Given the description of an element on the screen output the (x, y) to click on. 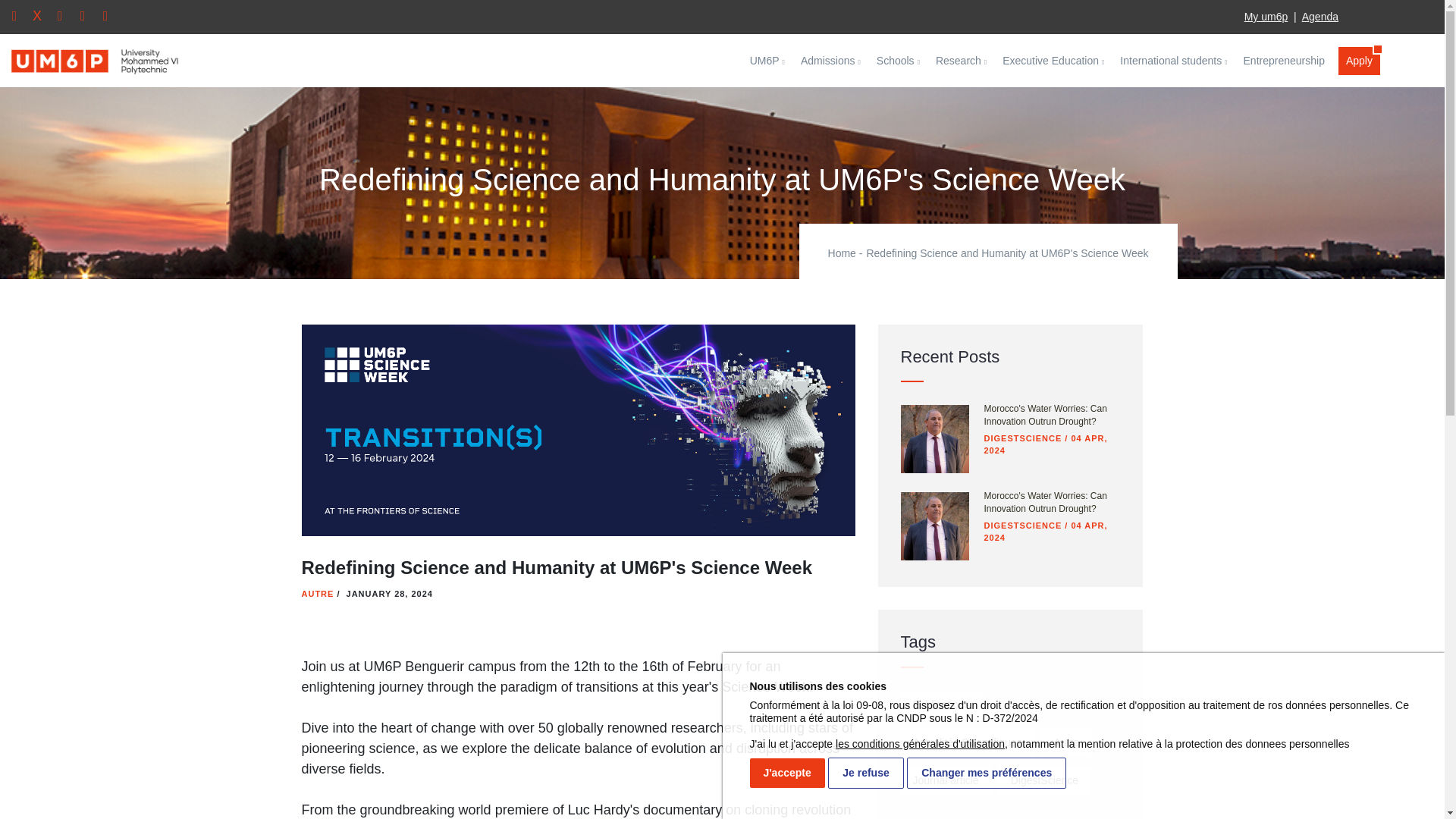
Admissions (831, 61)
Schools (898, 61)
Agenda (1319, 16)
J'accepte (786, 772)
Home (71, 61)
Je refuse (865, 771)
My um6p (1266, 16)
